Given the description of an element on the screen output the (x, y) to click on. 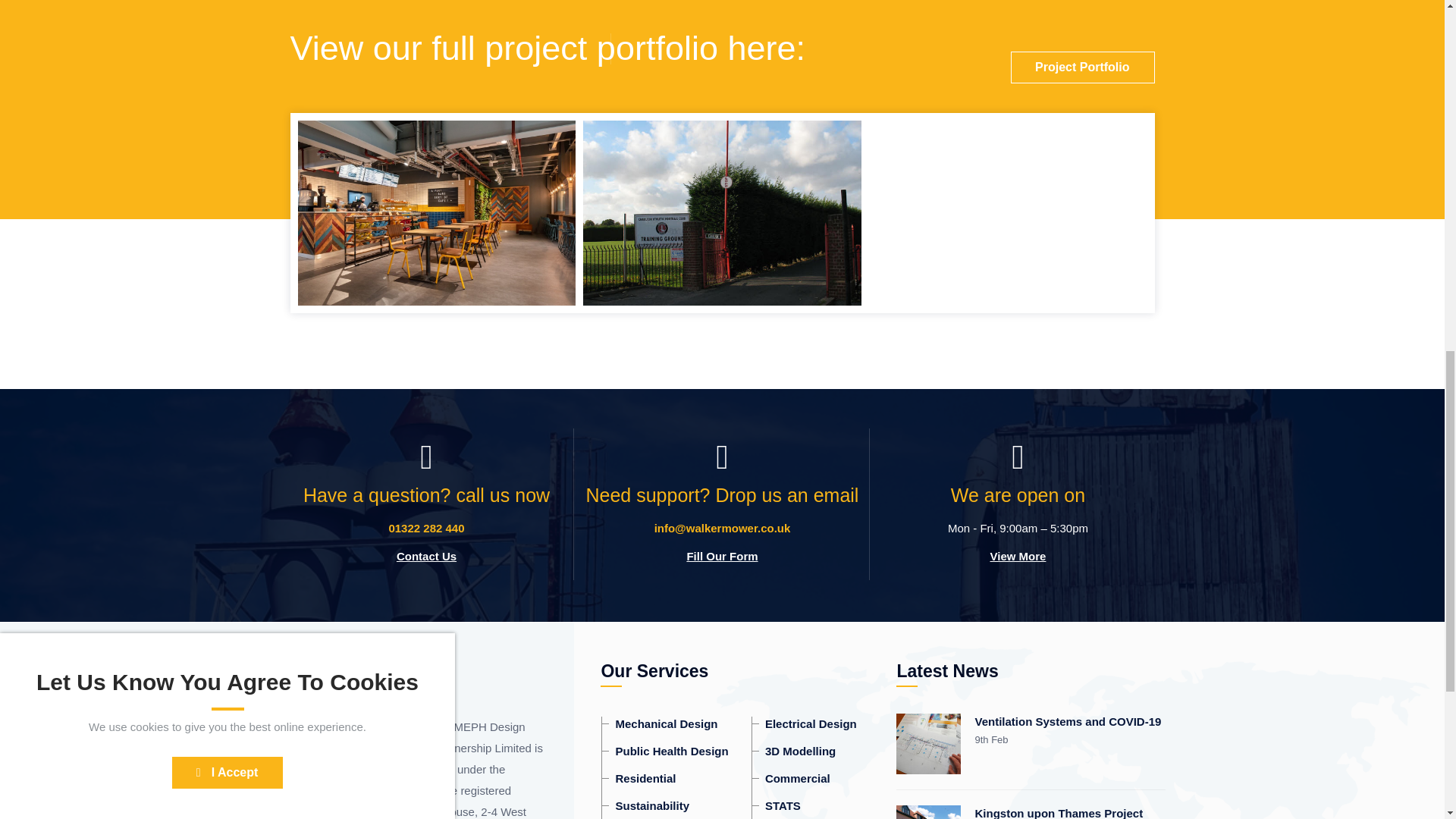
Project Portfolio (1082, 67)
